Given the description of an element on the screen output the (x, y) to click on. 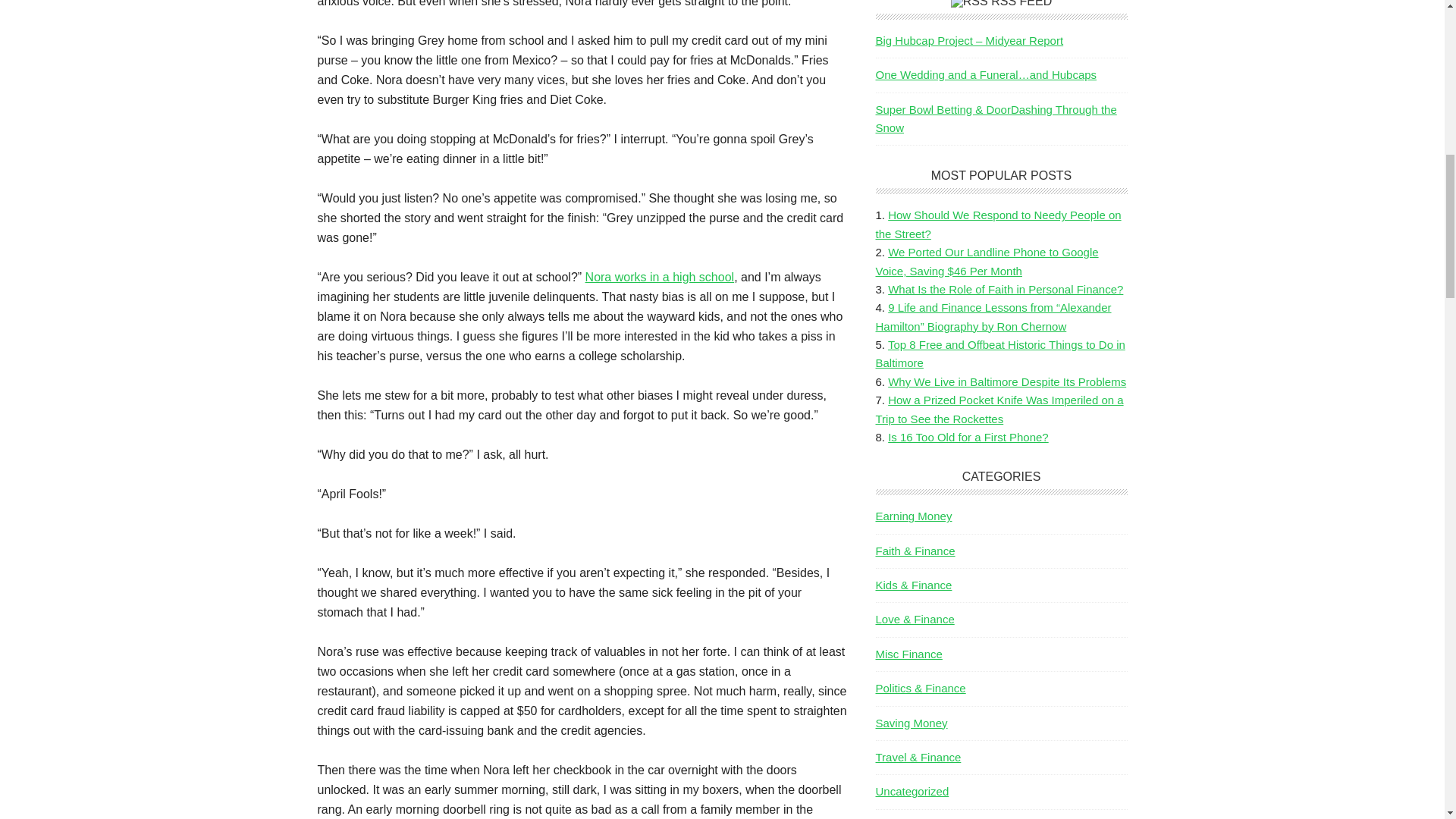
Top 8 Free and Offbeat Historic Things to Do in Baltimore (999, 353)
Nora works in a high school (660, 277)
Why We Live in Baltimore Despite Its Problems (1006, 381)
What Is the Role of Faith in Personal Finance? (1005, 288)
RSS FEED (1021, 3)
How Should We Respond to Needy People on the Street? (998, 223)
